Given the description of an element on the screen output the (x, y) to click on. 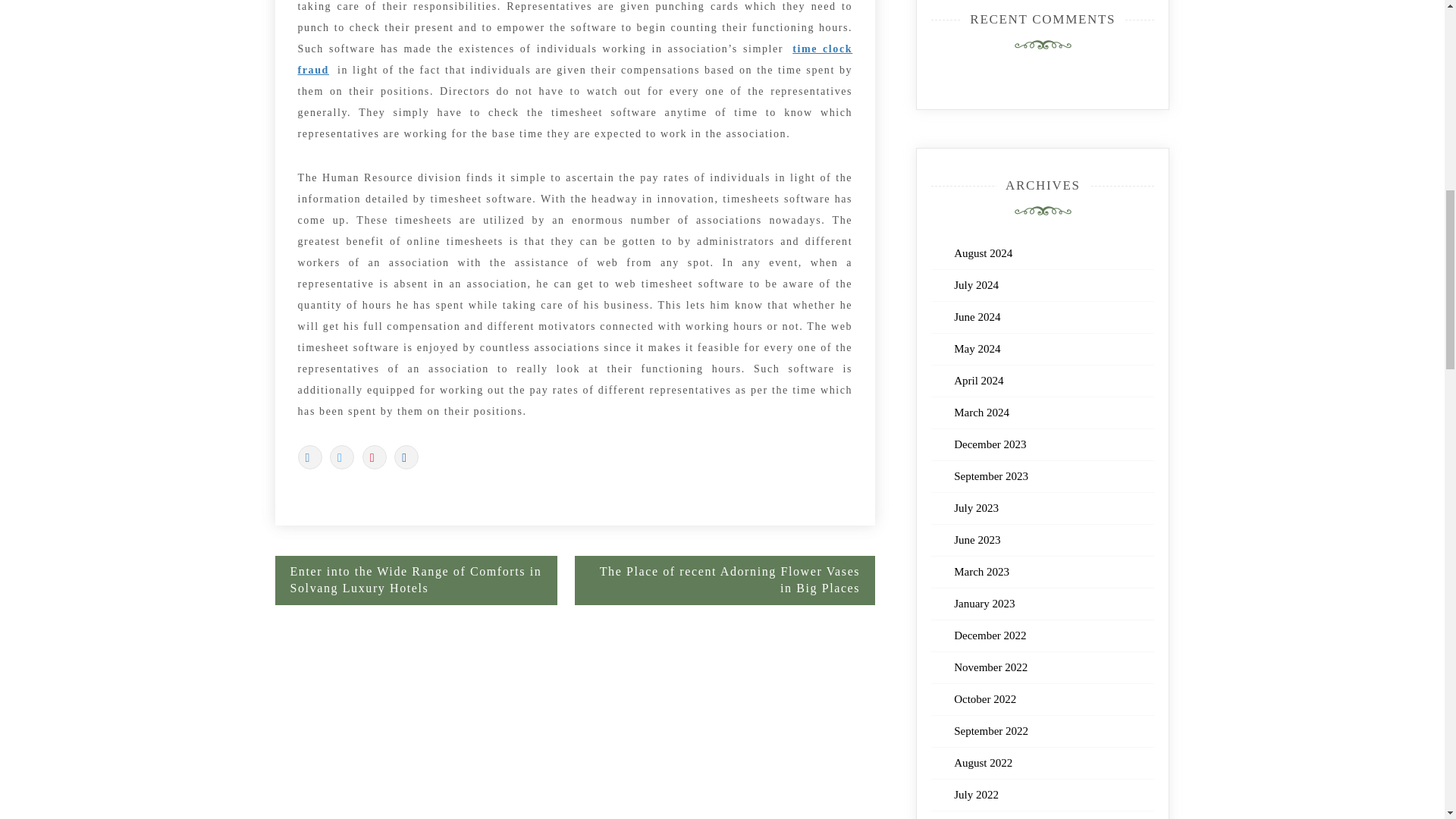
time clock fraud (574, 59)
March 2024 (981, 412)
May 2024 (976, 348)
September 2023 (990, 476)
July 2023 (975, 508)
July 2024 (975, 285)
The Place of recent Adorning Flower Vases in Big Places (725, 581)
December 2023 (989, 444)
March 2023 (981, 571)
